Given the description of an element on the screen output the (x, y) to click on. 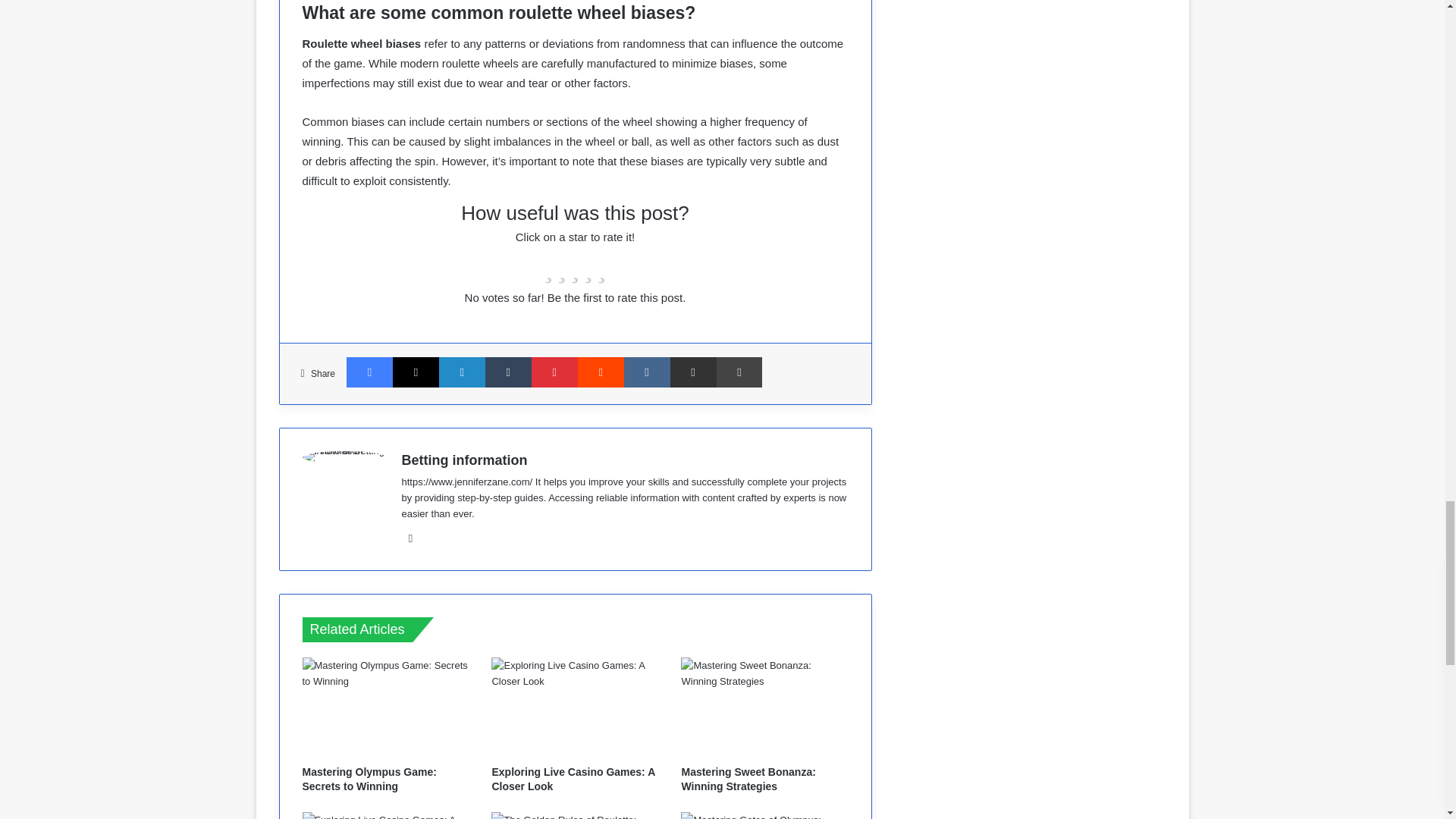
Tumblr (507, 372)
Website (410, 538)
Exploring Live Casino Games: A Closer Look (575, 707)
Pinterest (554, 372)
X (416, 372)
LinkedIn (461, 372)
Pinterest (554, 372)
Facebook (369, 372)
Share via Email (692, 372)
Print (738, 372)
Betting information (464, 459)
X (416, 372)
Tumblr (507, 372)
Facebook (369, 372)
Share via Email (692, 372)
